Given the description of an element on the screen output the (x, y) to click on. 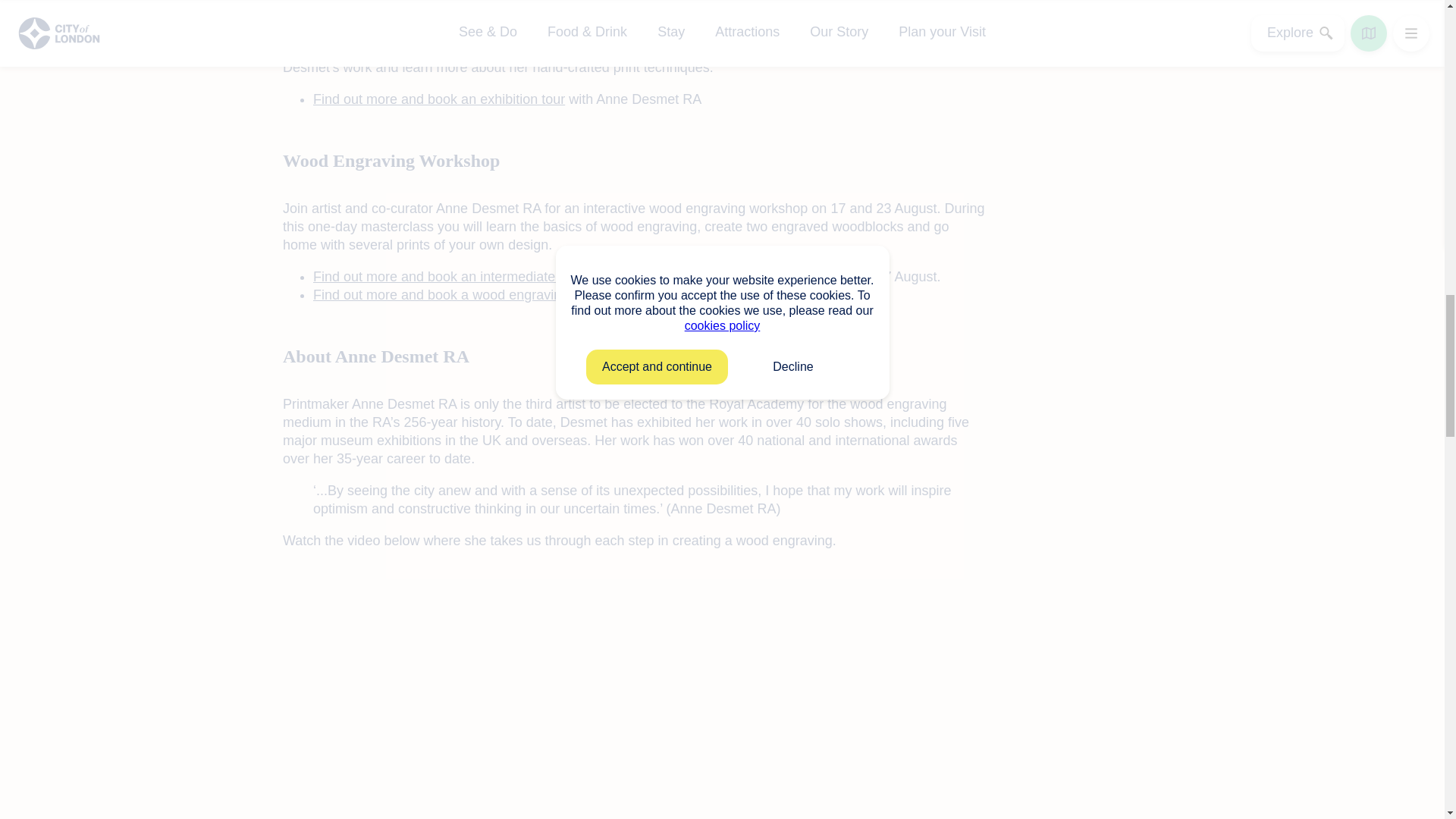
Find out more and book an exhibition tour (438, 99)
YouTube video player (494, 682)
